Given the description of an element on the screen output the (x, y) to click on. 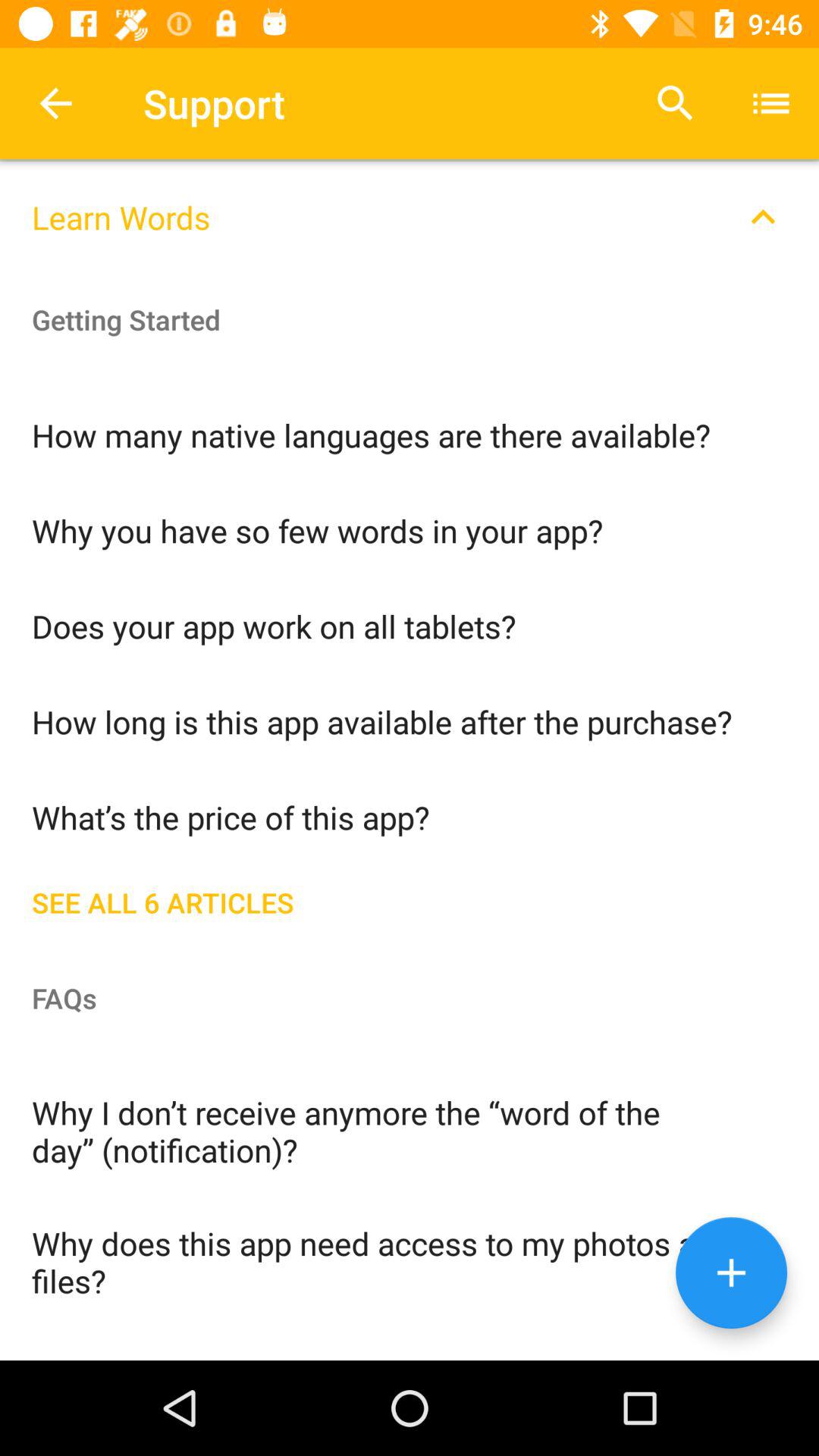
turn off item to the right of the support icon (675, 103)
